Given the description of an element on the screen output the (x, y) to click on. 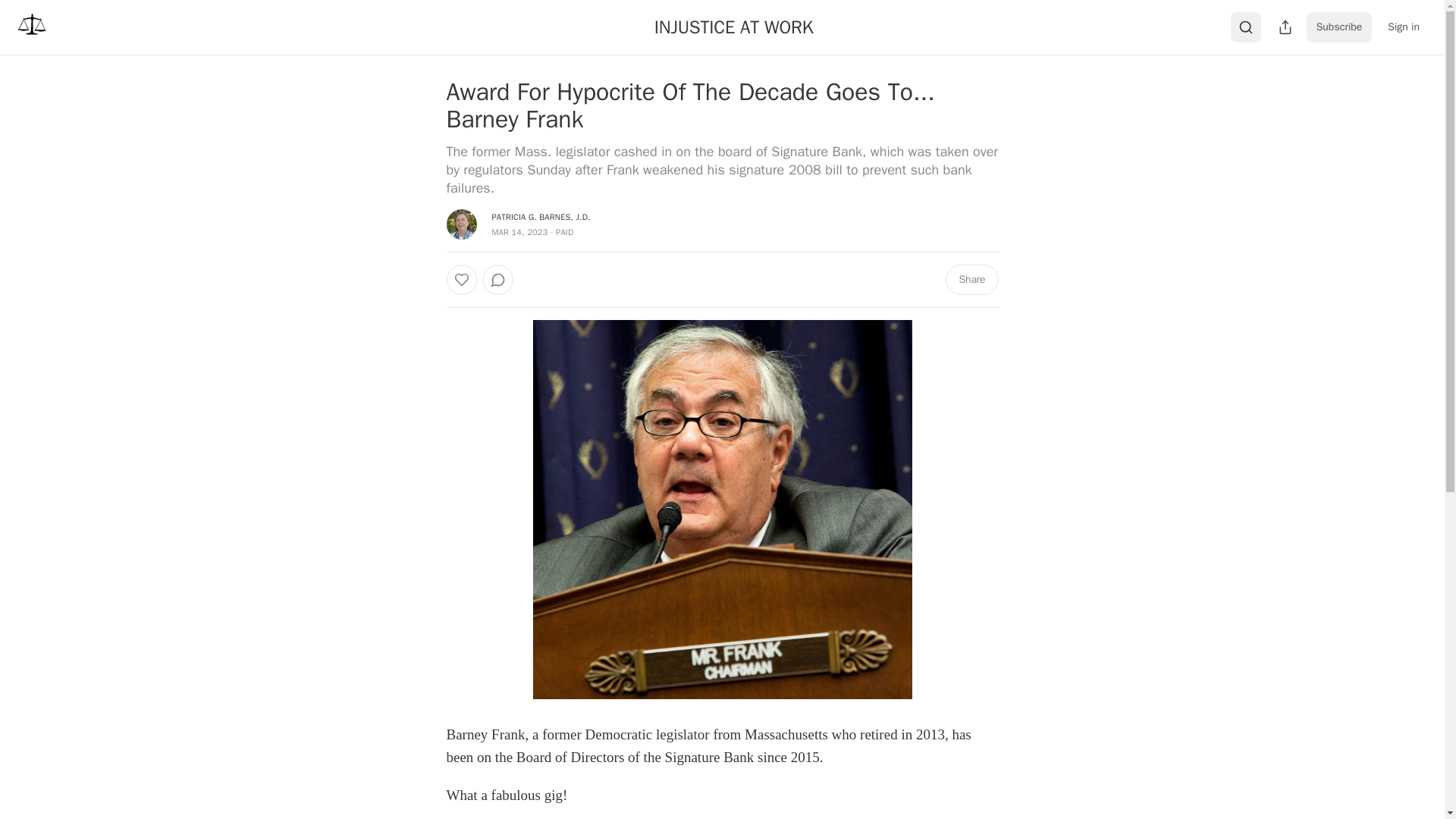
Share (970, 279)
Sign in (1403, 27)
Subscribe (1339, 27)
INJUSTICE AT WORK (733, 26)
PATRICIA G. BARNES, J.D. (540, 216)
